Given the description of an element on the screen output the (x, y) to click on. 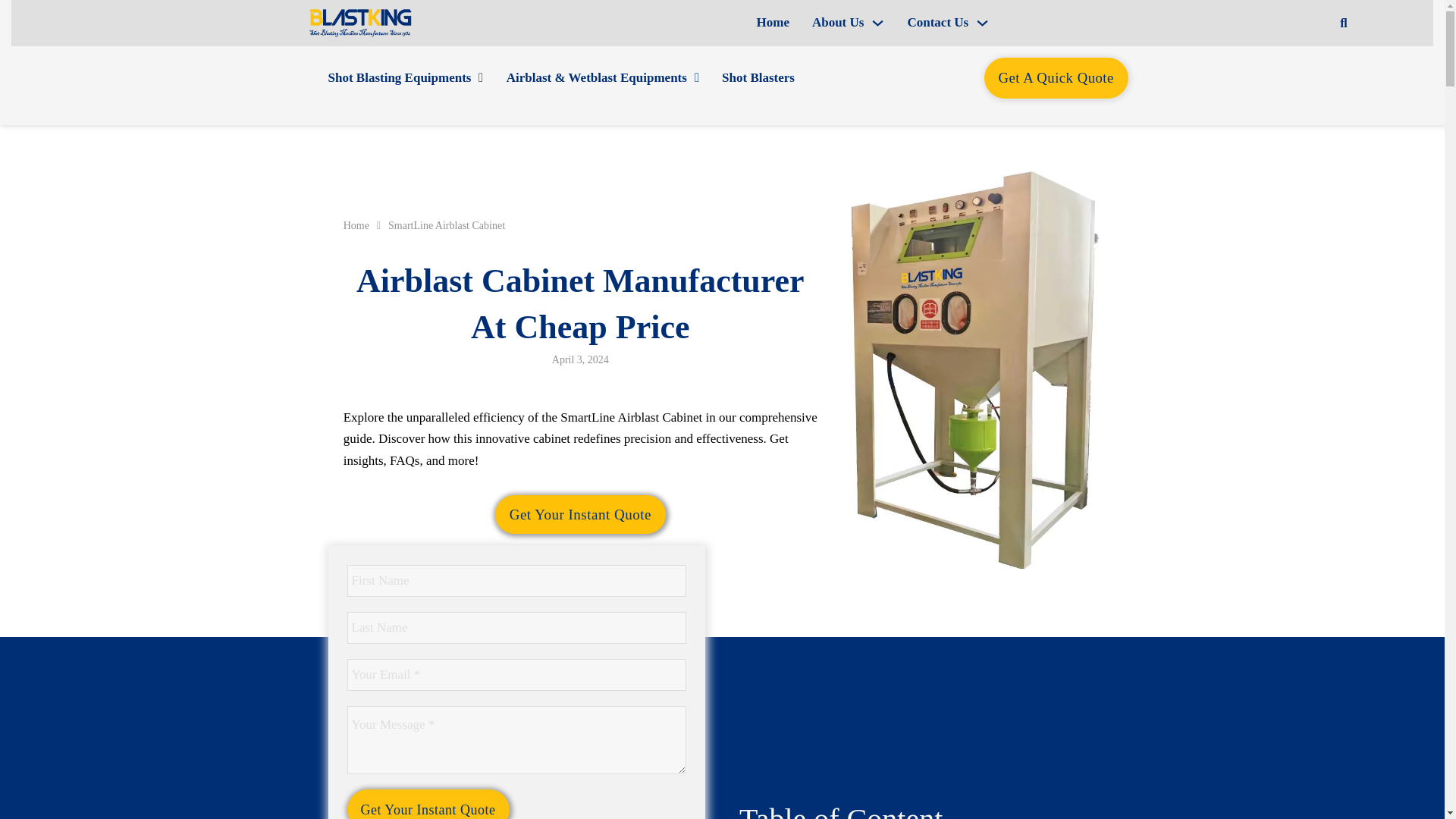
Shot Blasting Equipments (398, 78)
About Us (838, 23)
Contact Us (937, 23)
Home (773, 23)
